Given the description of an element on the screen output the (x, y) to click on. 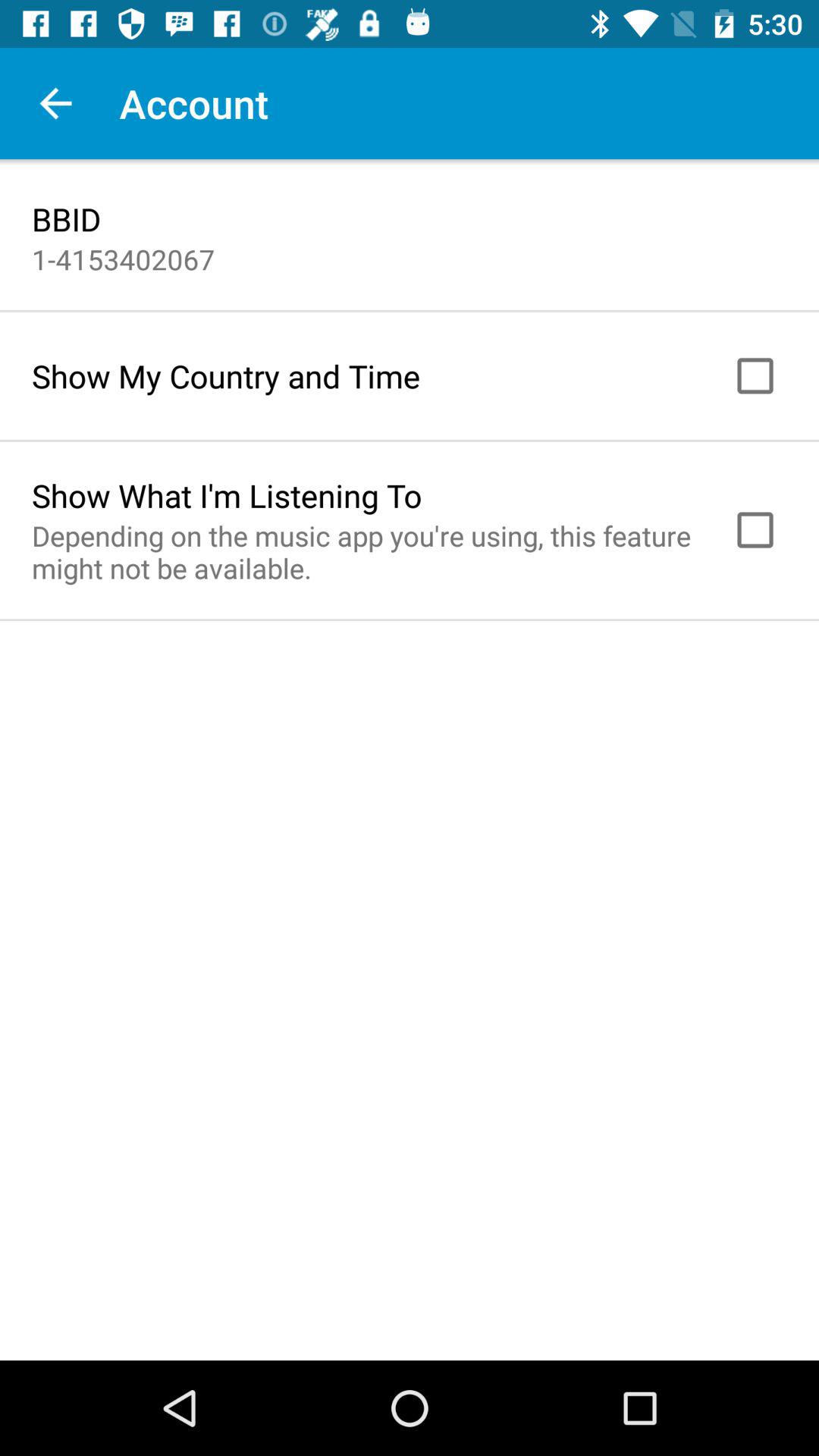
choose the item next to the account item (55, 103)
